Given the description of an element on the screen output the (x, y) to click on. 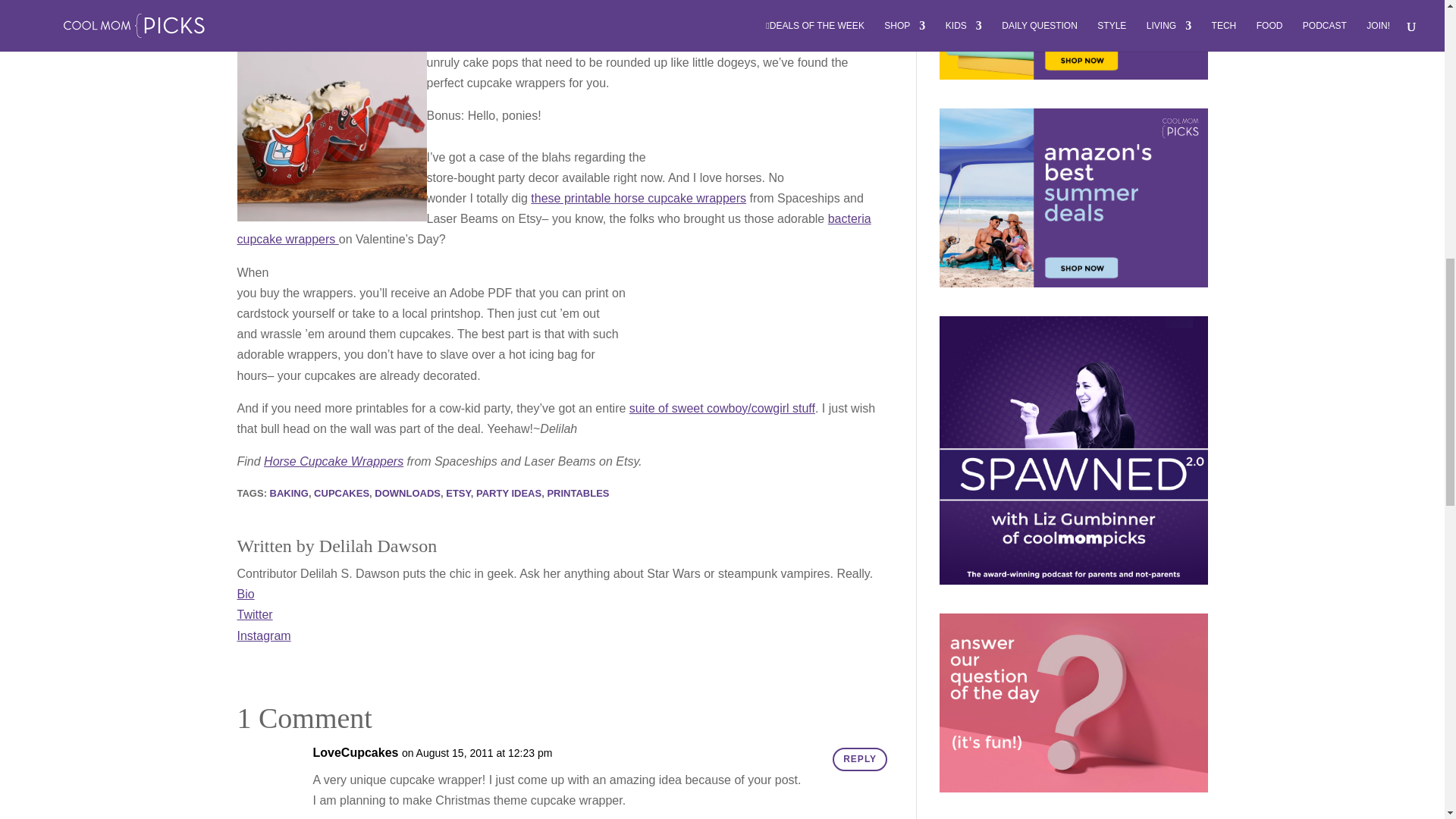
cupcake wrappers (552, 228)
Horse cupcake wrappers (638, 197)
Amazon's best summer deals (1073, 197)
Horse Cupcake Wrappers (333, 461)
Horse cupcake wrappers (330, 126)
